Given the description of an element on the screen output the (x, y) to click on. 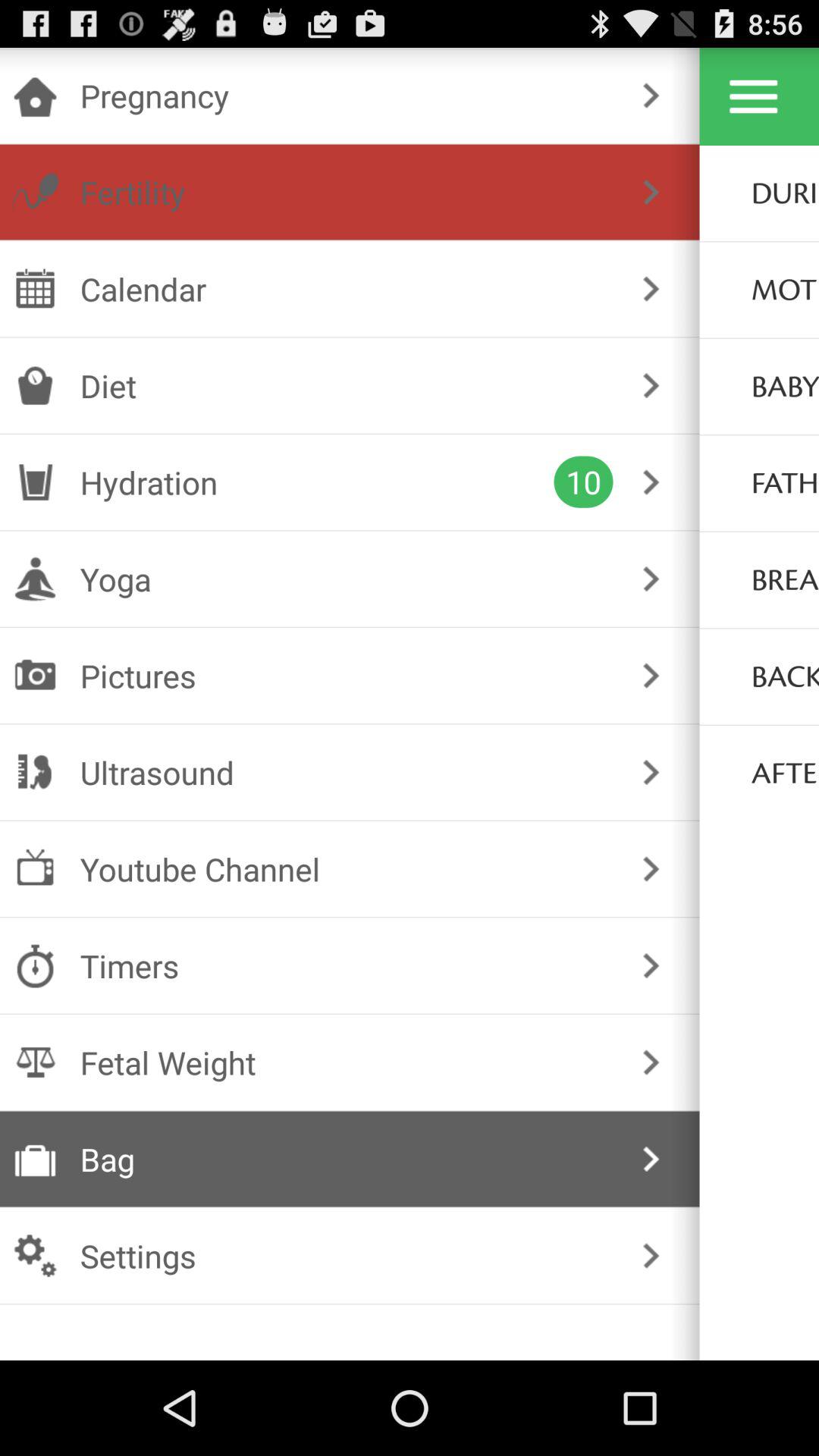
click item below the fetal weight icon (346, 1158)
